Given the description of an element on the screen output the (x, y) to click on. 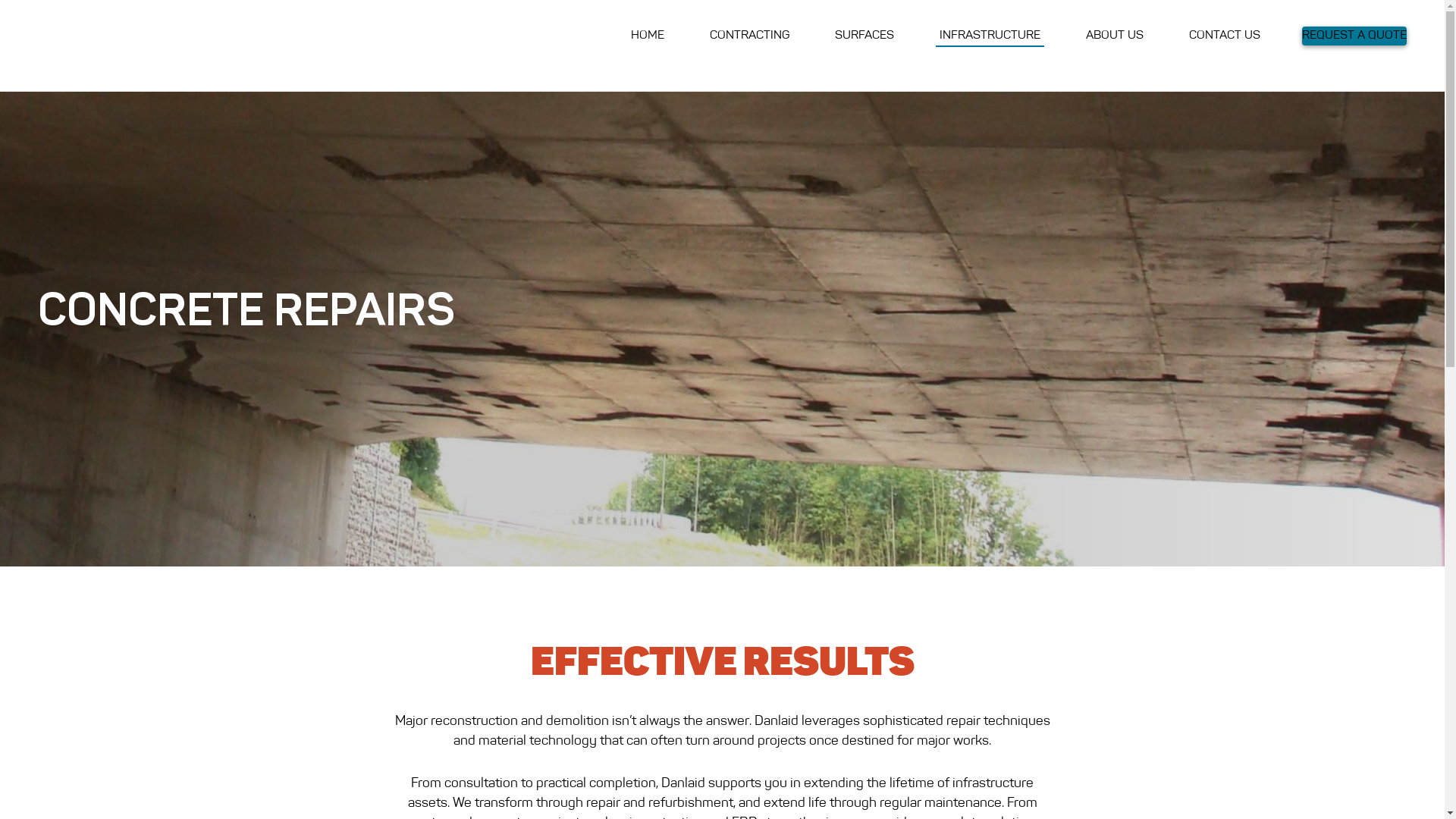
INFRASTRUCTURE Element type: text (989, 35)
CONTACT US Element type: text (1224, 35)
REQUEST A QUOTE Element type: text (1354, 35)
HOME Element type: text (647, 35)
CONTRACTING Element type: text (749, 35)
ABOUT US Element type: text (1114, 35)
SURFACES Element type: text (864, 35)
